Given the description of an element on the screen output the (x, y) to click on. 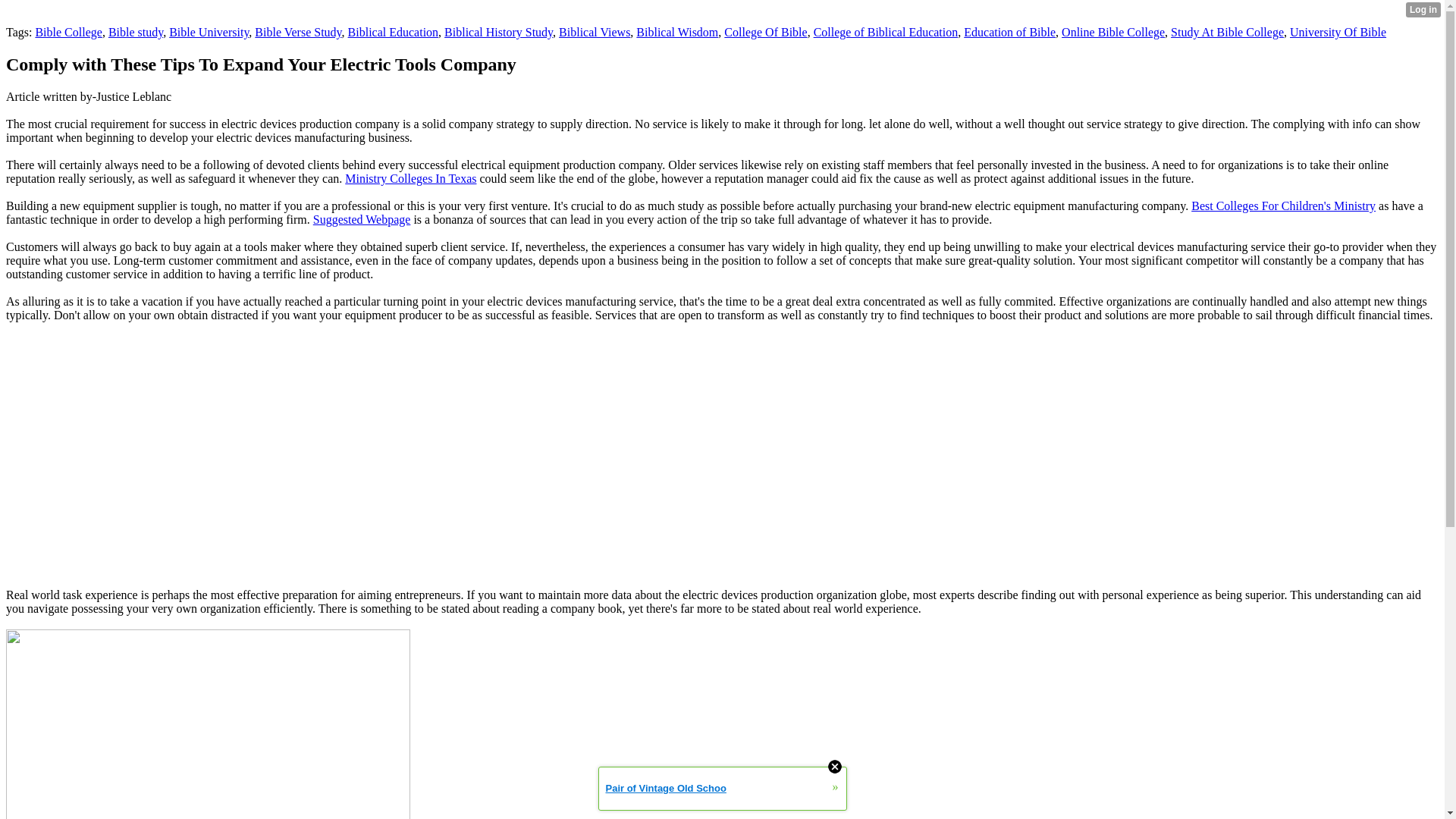
Bible Verse Study (297, 31)
College Of Bible (764, 31)
Biblical Wisdom (676, 31)
Suggested Webpage (361, 219)
Bible study (135, 31)
College of Biblical Education (885, 31)
Best Colleges For Children's Ministry (1283, 205)
Online Bible College (1112, 31)
Education of Bible (1009, 31)
Biblical Views (594, 31)
